Given the description of an element on the screen output the (x, y) to click on. 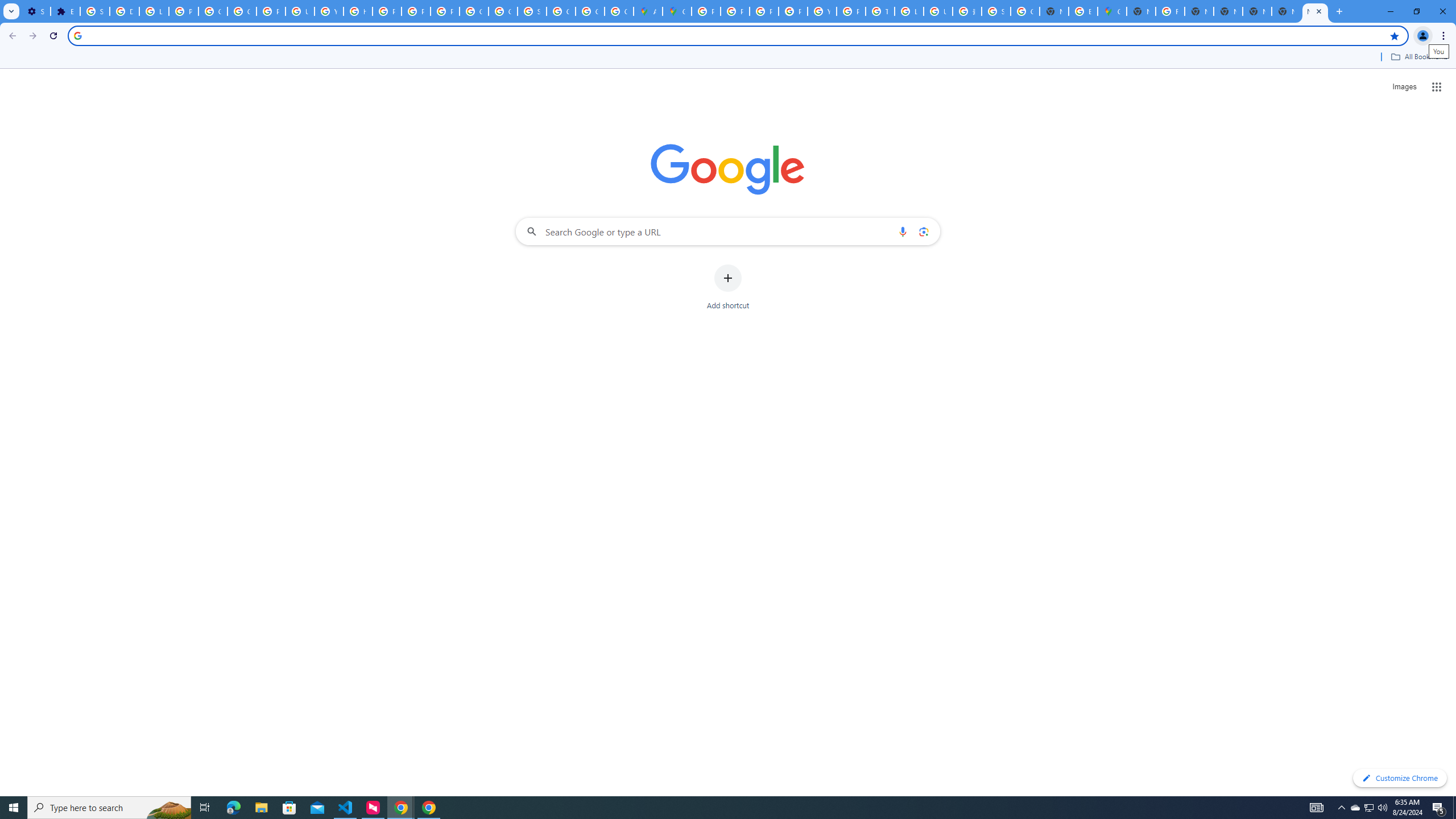
Search icon (77, 35)
https://scholar.google.com/ (357, 11)
Bookmarks (728, 58)
Google Account Help (212, 11)
